Given the description of an element on the screen output the (x, y) to click on. 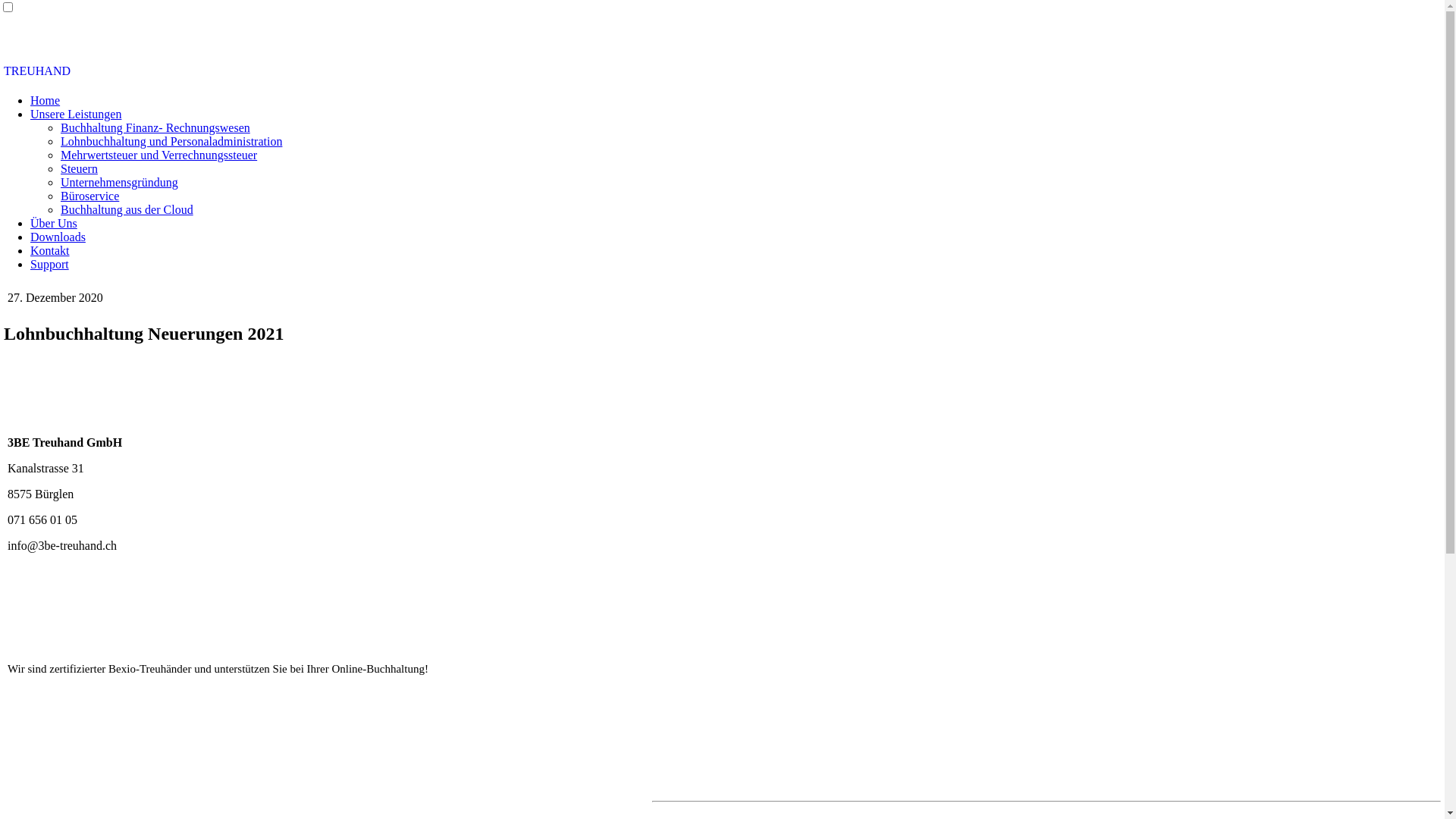
Buchhaltung Finanz- Rechnungswesen Element type: text (155, 127)
Unsere Leistungen Element type: text (75, 113)
Lohnbuchhaltung und Personaladministration Element type: text (171, 140)
Buchhaltung aus der Cloud Element type: text (126, 209)
Home Element type: text (44, 100)
Steuern Element type: text (78, 168)
TREUHAND Element type: text (36, 70)
Kontakt Element type: text (49, 250)
Mehrwertsteuer und Verrechnungssteuer Element type: text (158, 154)
Support Element type: text (49, 263)
Downloads Element type: text (57, 236)
